Given the description of an element on the screen output the (x, y) to click on. 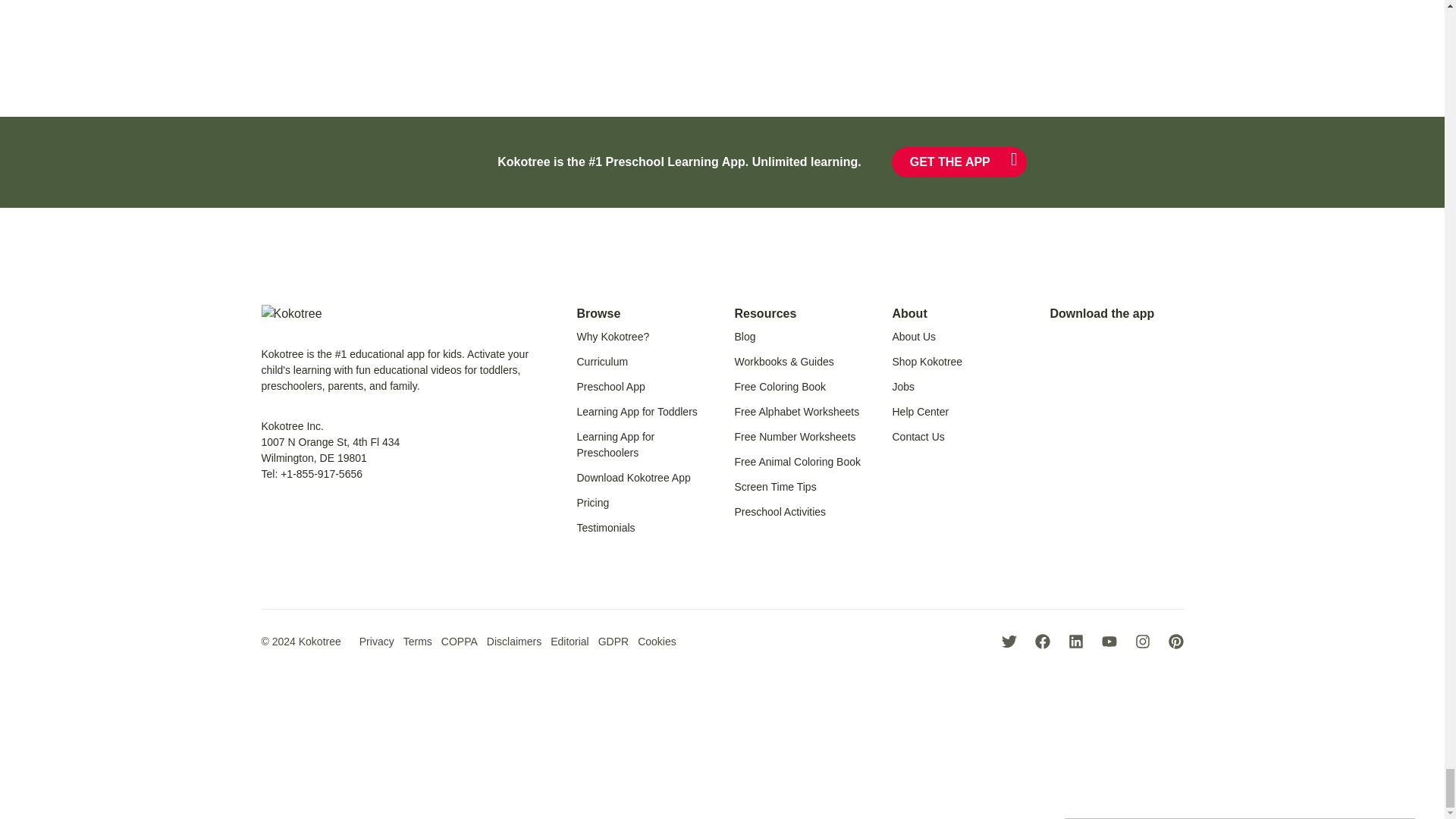
Kokotree Curriculum (601, 361)
Preschool App (610, 386)
Why Kokotree? (612, 336)
Kokotree Blog (744, 336)
Kokotree Workbooks and Parenting Guides (782, 361)
Kokotree Mobile App for Kids (633, 477)
Learning App for Preschoolers (614, 444)
Learning App for Toddlers (636, 411)
